Given the description of an element on the screen output the (x, y) to click on. 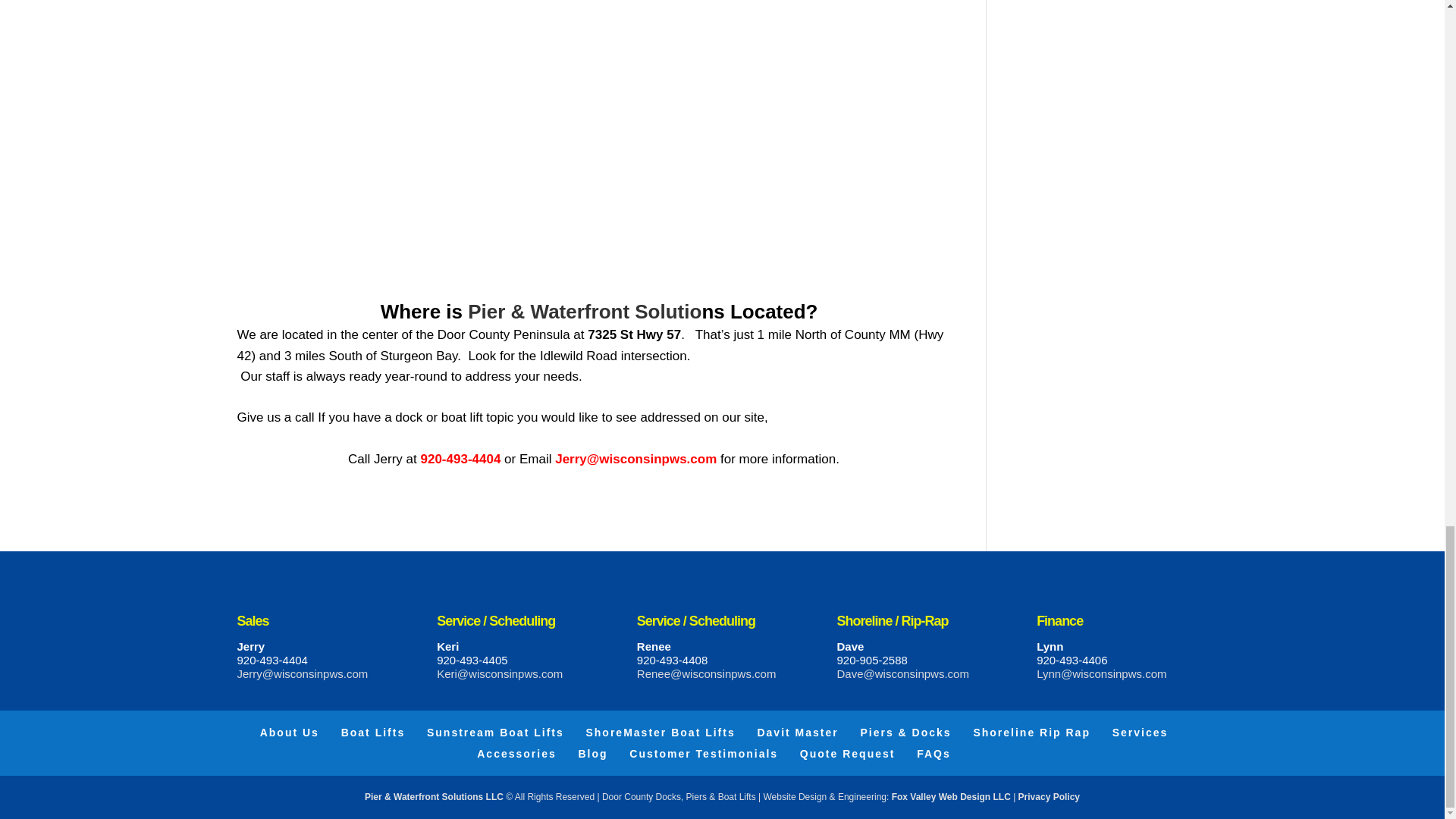
Boat Lifts (373, 732)
About Us (289, 732)
Davit Master (797, 732)
Sunstream Boat Lifts (495, 732)
ShoreMaster Boat Lifts (660, 732)
